Given the description of an element on the screen output the (x, y) to click on. 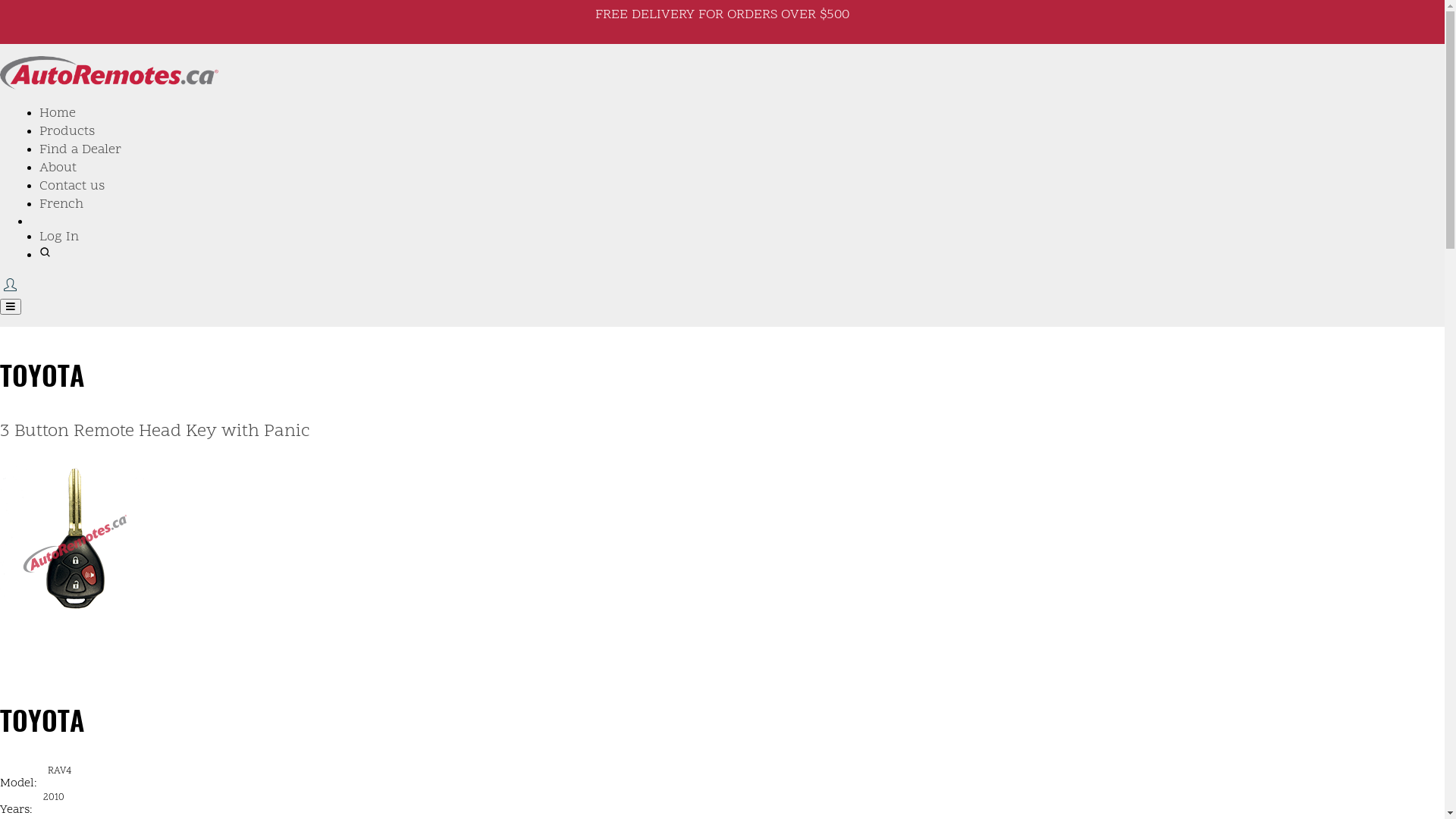
Find a Dealer Element type: text (80, 149)
Contact us Element type: text (71, 185)
Log In Element type: text (58, 236)
Products Element type: text (66, 131)
About Element type: text (57, 167)
French Element type: text (61, 203)
Home Element type: text (57, 112)
